Given the description of an element on the screen output the (x, y) to click on. 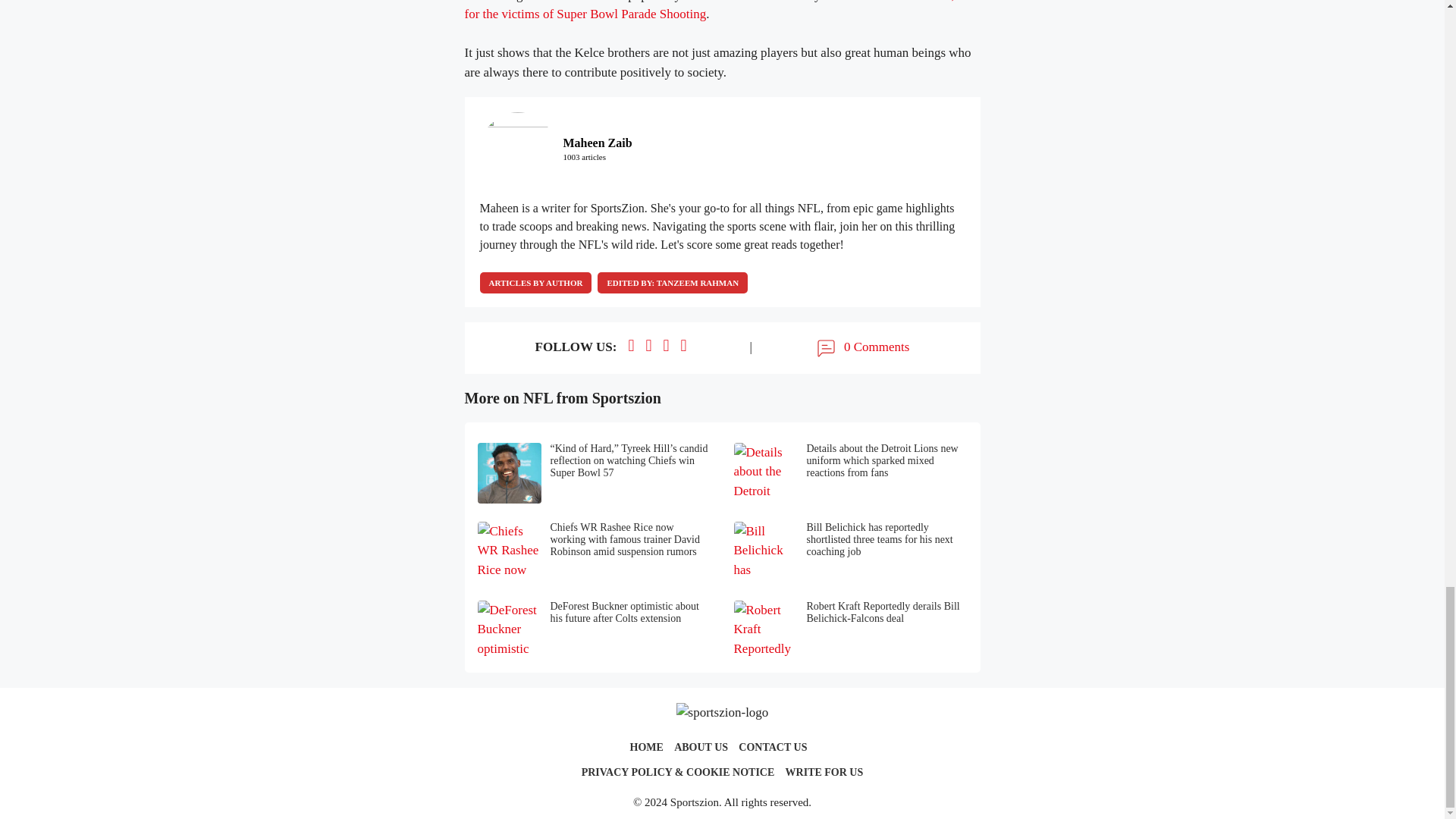
EDITED BY: TANZEEM RAHMAN (672, 282)
Robert Kraft Reportedly derails Bill Belichick-Falcons deal (850, 630)
0 Comments (861, 347)
ARTICLES BY AUTHOR (535, 282)
